Given the description of an element on the screen output the (x, y) to click on. 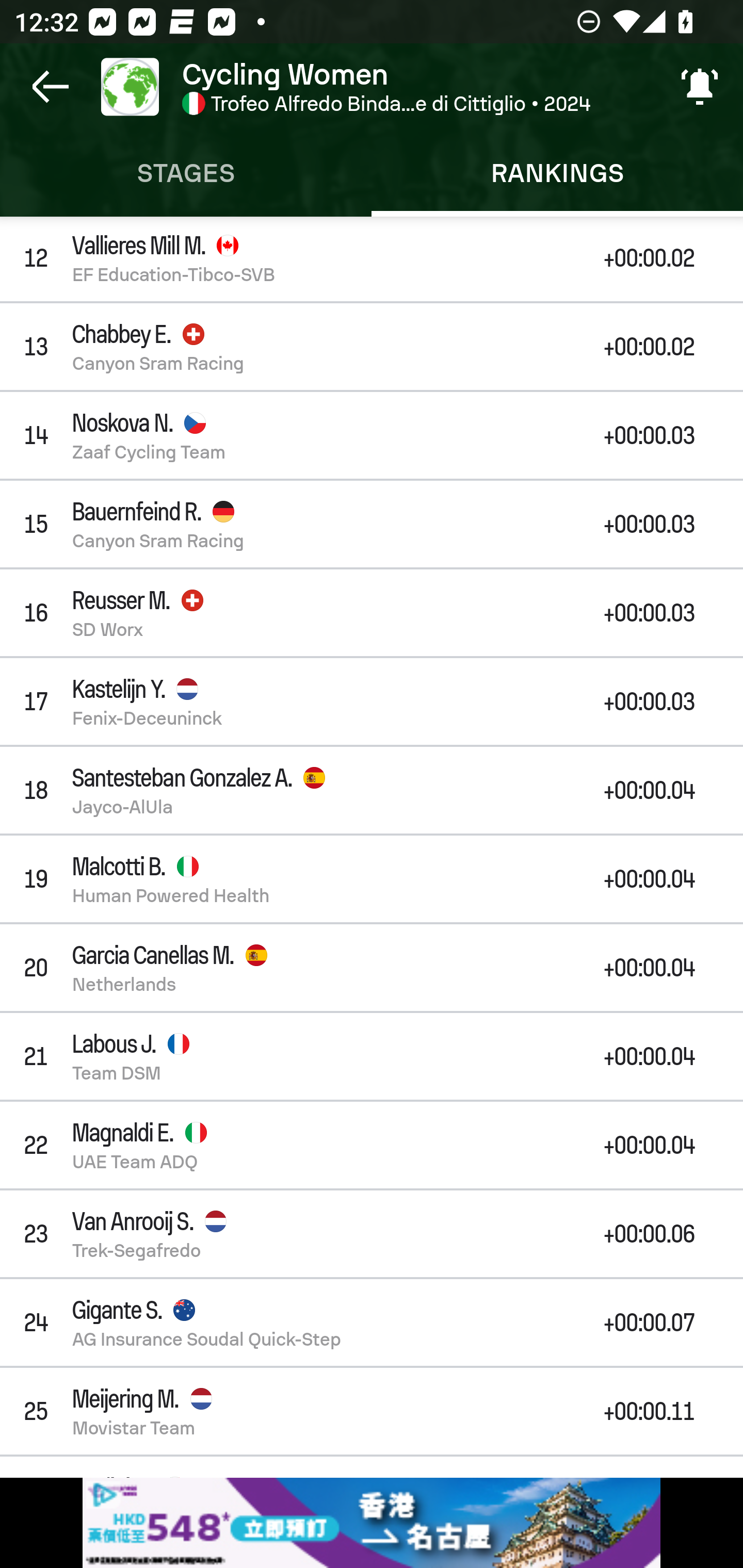
Navigate up (50, 86)
Stages STAGES (185, 173)
13 Chabbey E. Canyon Sram Racing +00:00.02 (371, 346)
14 Noskova N. Zaaf Cycling Team +00:00.03 (371, 435)
15 Bauernfeind R. Canyon Sram Racing +00:00.03 (371, 524)
16 Reusser M. SD Worx +00:00.03 (371, 612)
17 Kastelijn Y. Fenix-Deceuninck +00:00.03 (371, 701)
18 Santesteban Gonzalez A. Jayco-AlUla +00:00.04 (371, 790)
19 Malcotti B. Human Powered Health +00:00.04 (371, 878)
20 Garcia Canellas M. Netherlands +00:00.04 (371, 967)
21 Labous J. Team DSM +00:00.04 (371, 1055)
22 Magnaldi E. UAE Team ADQ +00:00.04 (371, 1145)
23 Van Anrooij S. Trek-Segafredo +00:00.06 (371, 1233)
25 Meijering M. Movistar Team +00:00.11 (371, 1411)
ysfecx5i_320x50 (371, 1522)
